Given the description of an element on the screen output the (x, y) to click on. 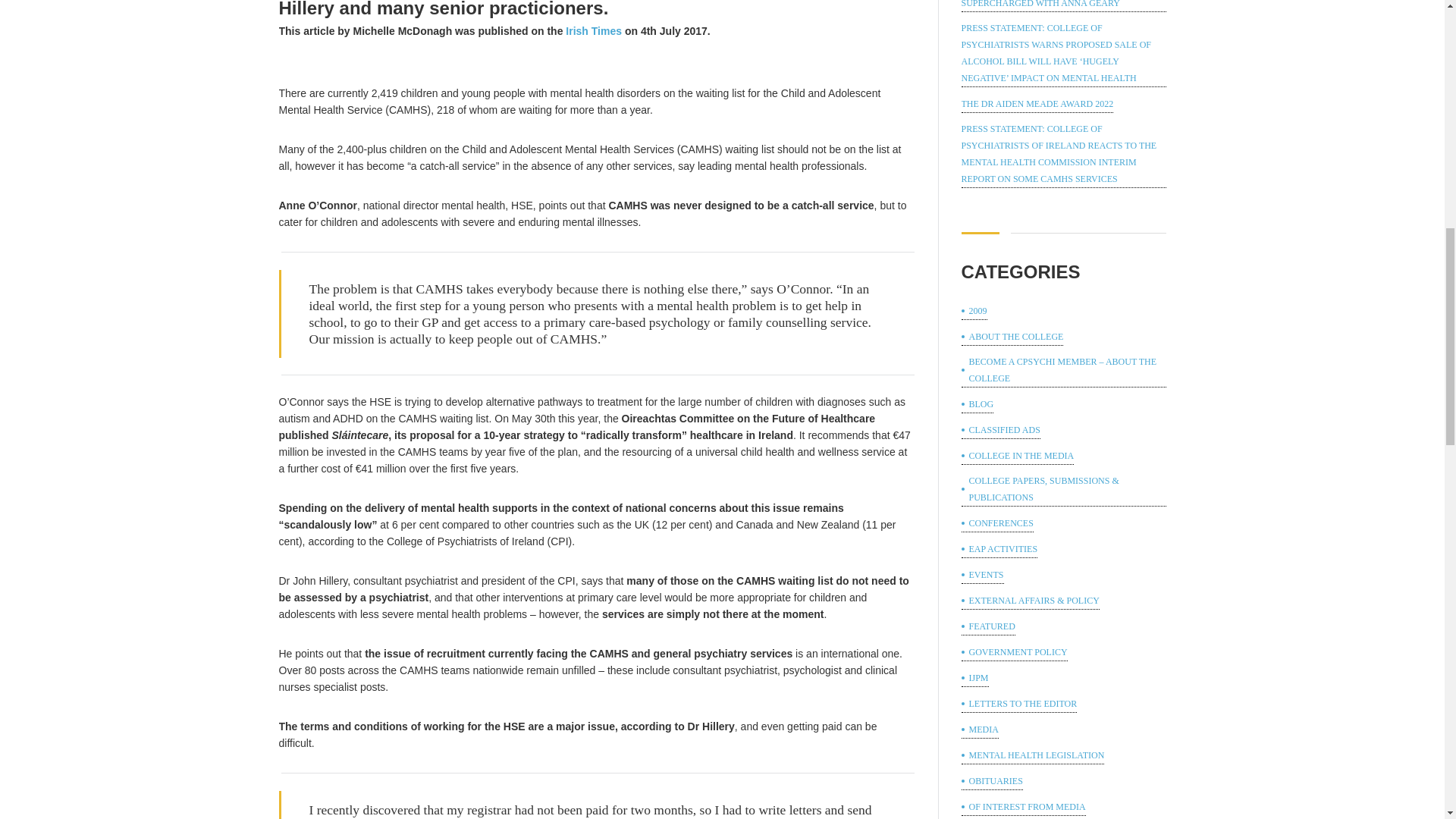
Irish Times (593, 30)
THE DR AIDEN MEADE AWARD 2022 (1036, 104)
2009 (973, 311)
ABOUT THE COLLEGE (1012, 336)
